Given the description of an element on the screen output the (x, y) to click on. 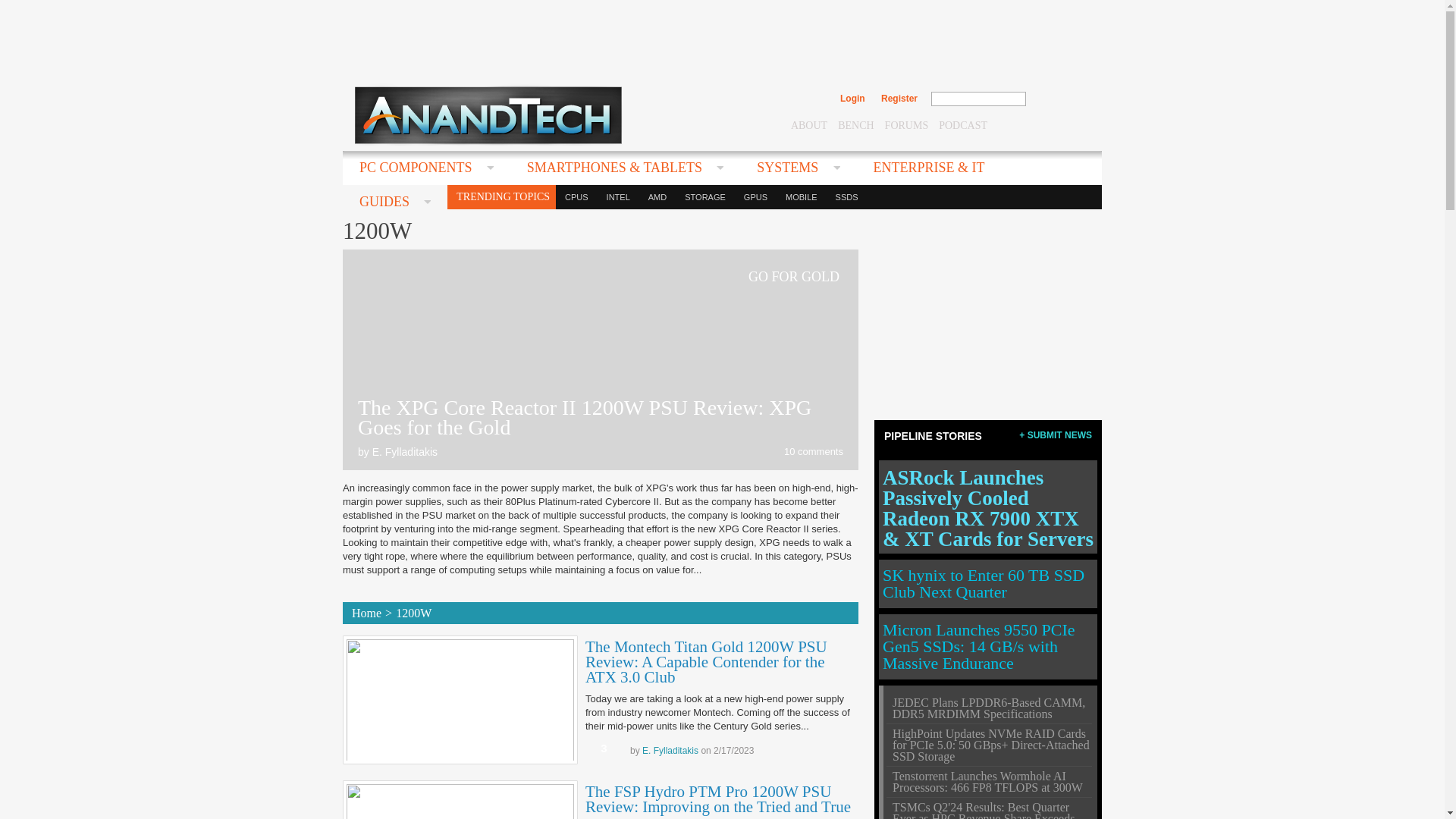
search (1059, 98)
search (1059, 98)
Login (852, 98)
search (1059, 98)
FORUMS (906, 125)
Register (898, 98)
BENCH (855, 125)
PODCAST (963, 125)
ABOUT (808, 125)
